Given the description of an element on the screen output the (x, y) to click on. 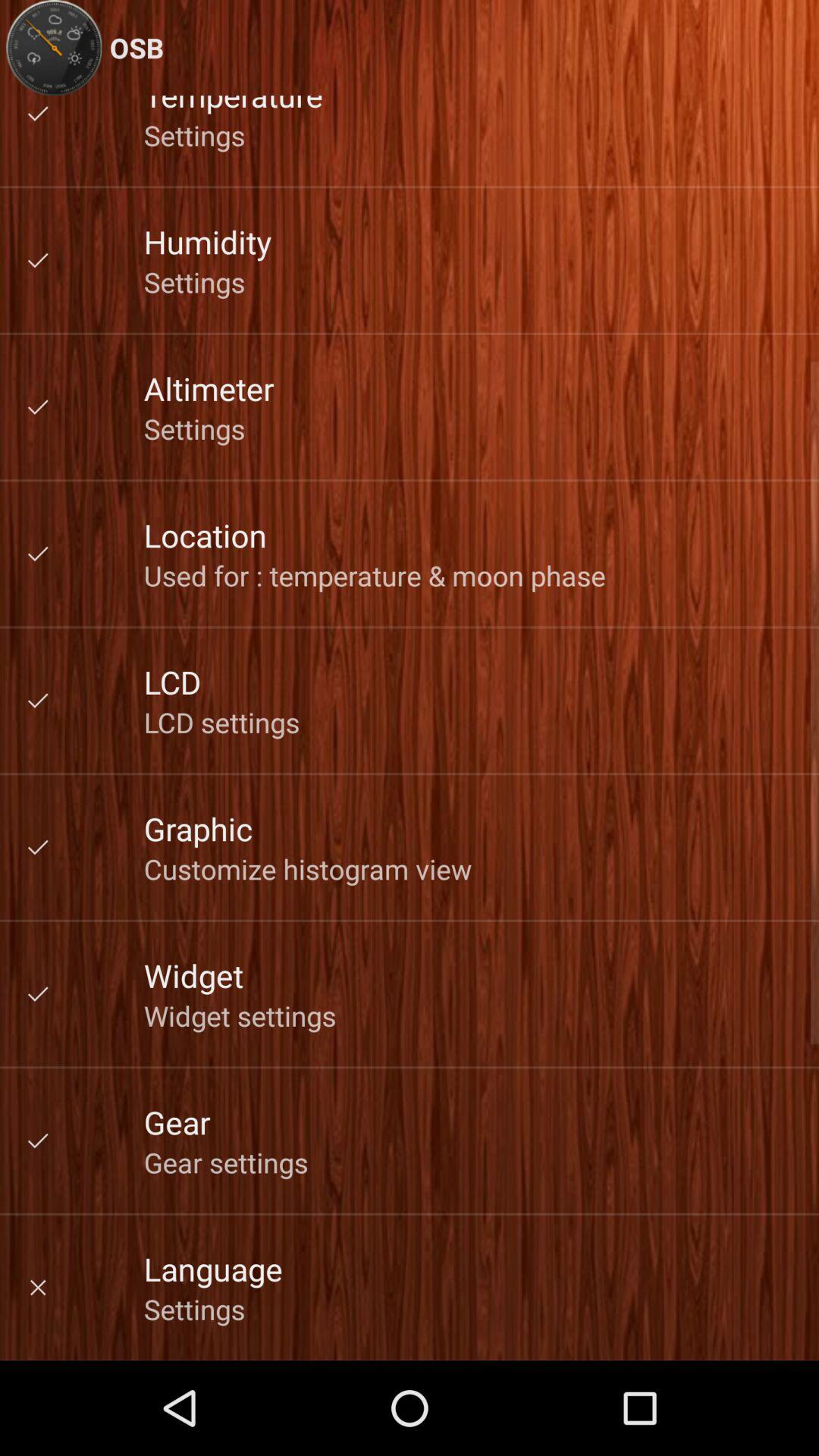
swipe until the altimeter app (208, 388)
